Given the description of an element on the screen output the (x, y) to click on. 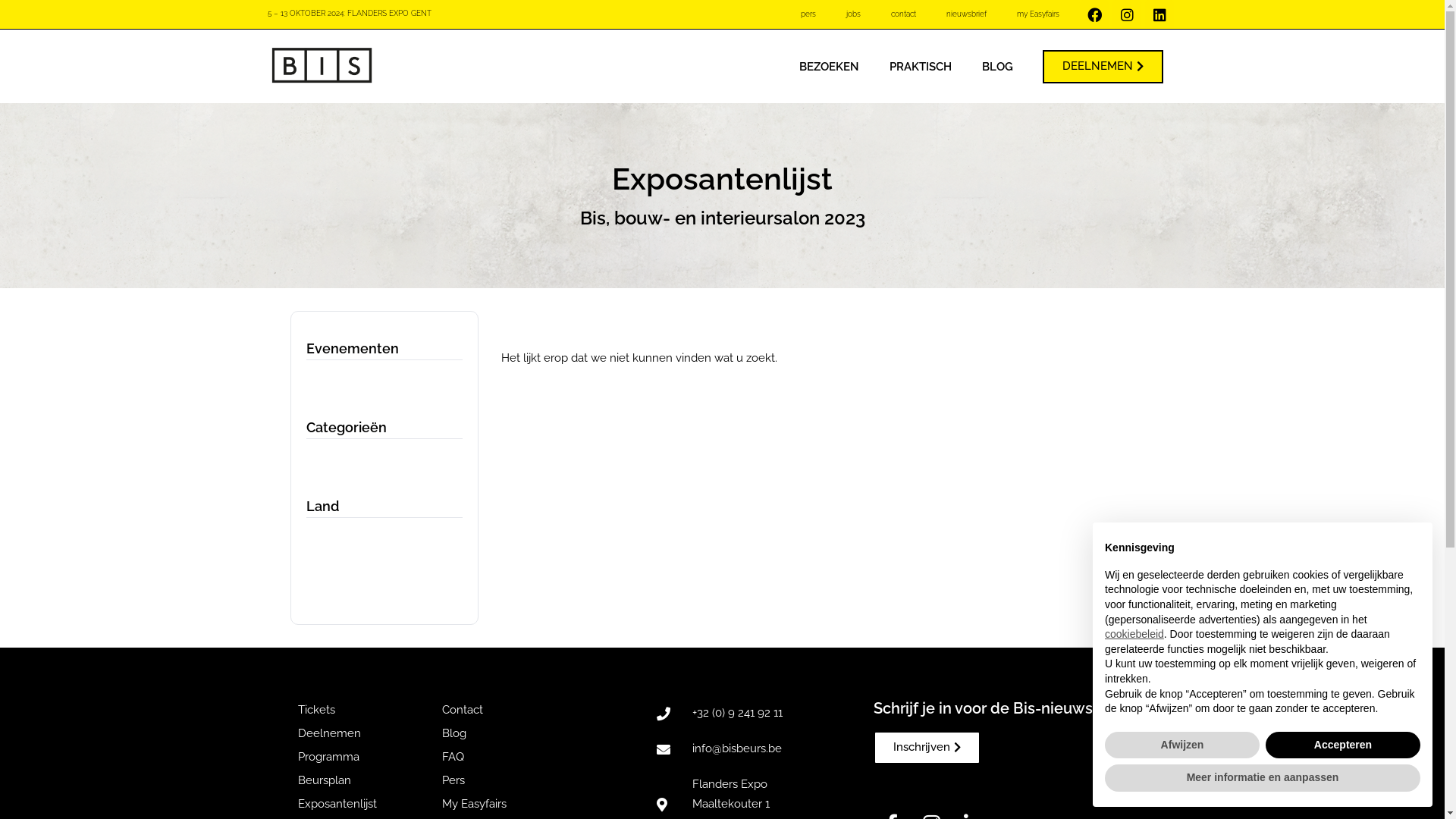
PRAKTISCH Element type: text (920, 66)
My Easyfairs Element type: text (527, 804)
nieuwsbrief Element type: text (966, 14)
Pers Element type: text (527, 780)
Blog Element type: text (527, 733)
Exposantenlijst Element type: text (361, 804)
Tickets Element type: text (361, 710)
Accepteren Element type: text (1342, 745)
+32 (0) 9 241 92 11 Element type: text (755, 713)
DEELNEMEN Element type: text (1102, 66)
BLOG Element type: text (997, 66)
Meer informatie en aanpassen Element type: text (1262, 777)
pers Element type: text (808, 14)
Programma Element type: text (361, 757)
Afwijzen Element type: text (1181, 745)
FAQ Element type: text (527, 757)
cookiebeleid Element type: text (1134, 633)
info@bisbeurs.be Element type: text (755, 749)
BEZOEKEN Element type: text (829, 66)
contact Element type: text (903, 14)
Deelnemen Element type: text (361, 733)
Contact Element type: text (527, 710)
jobs Element type: text (853, 14)
Inschrijven Element type: text (926, 747)
Beursplan Element type: text (361, 780)
my Easyfairs Element type: text (1037, 14)
